Given the description of an element on the screen output the (x, y) to click on. 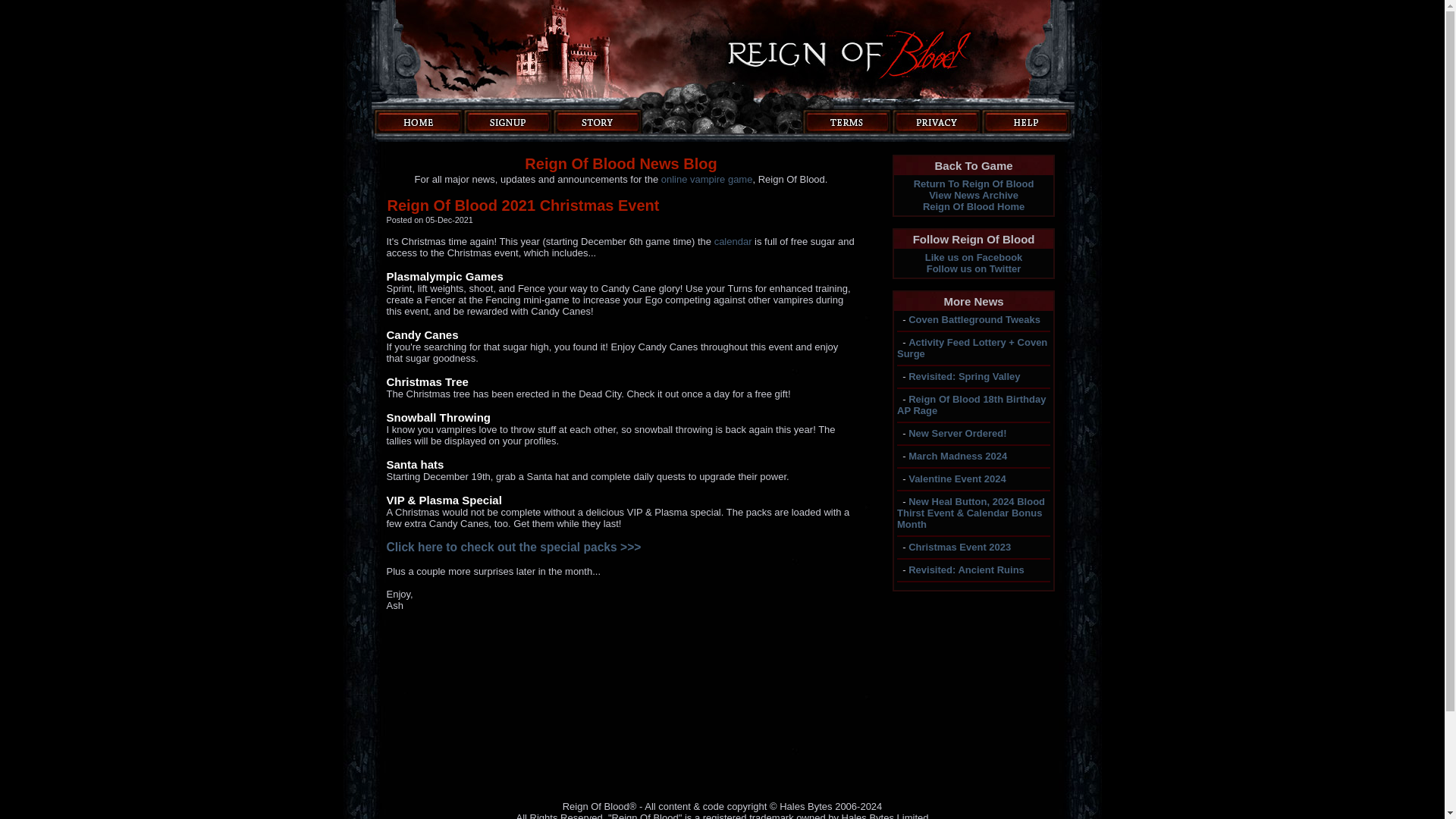
Coven Battleground Tweaks (974, 319)
Reign Of Blood 18th Birthday AP Rage (970, 404)
Valentine Event 2024 (957, 478)
Advertisement (621, 693)
March Madness 2024 (957, 455)
New Server Ordered! (957, 432)
vampire games (974, 206)
Reign Of Blood Home (974, 206)
vampire games (706, 179)
New Server Ordered! (957, 432)
